Given the description of an element on the screen output the (x, y) to click on. 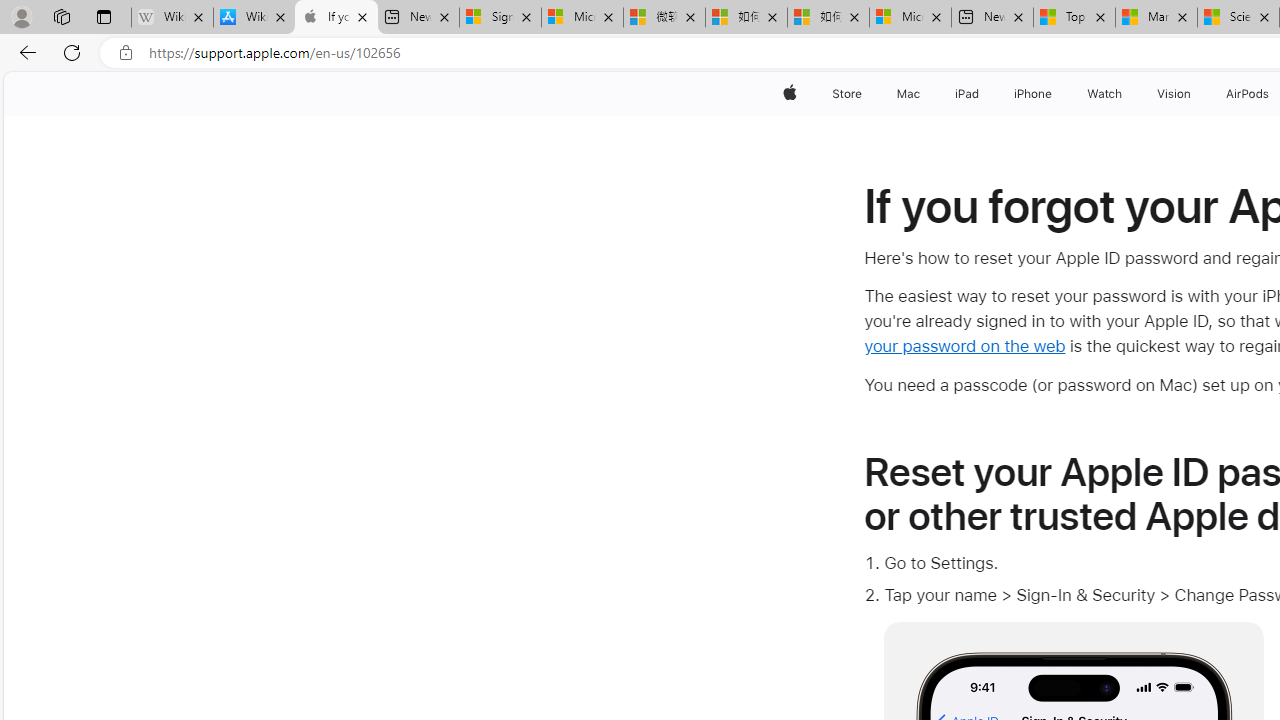
If you forgot your Apple ID password - Apple Support (336, 17)
Vision menu (1195, 93)
Apple (789, 93)
Mac (908, 93)
Apple (789, 93)
Class: globalnav-submenu-trigger-item (1195, 93)
Store (846, 93)
iPhone (1033, 93)
iPad menu (982, 93)
Store (846, 93)
Watch menu (1125, 93)
